Given the description of an element on the screen output the (x, y) to click on. 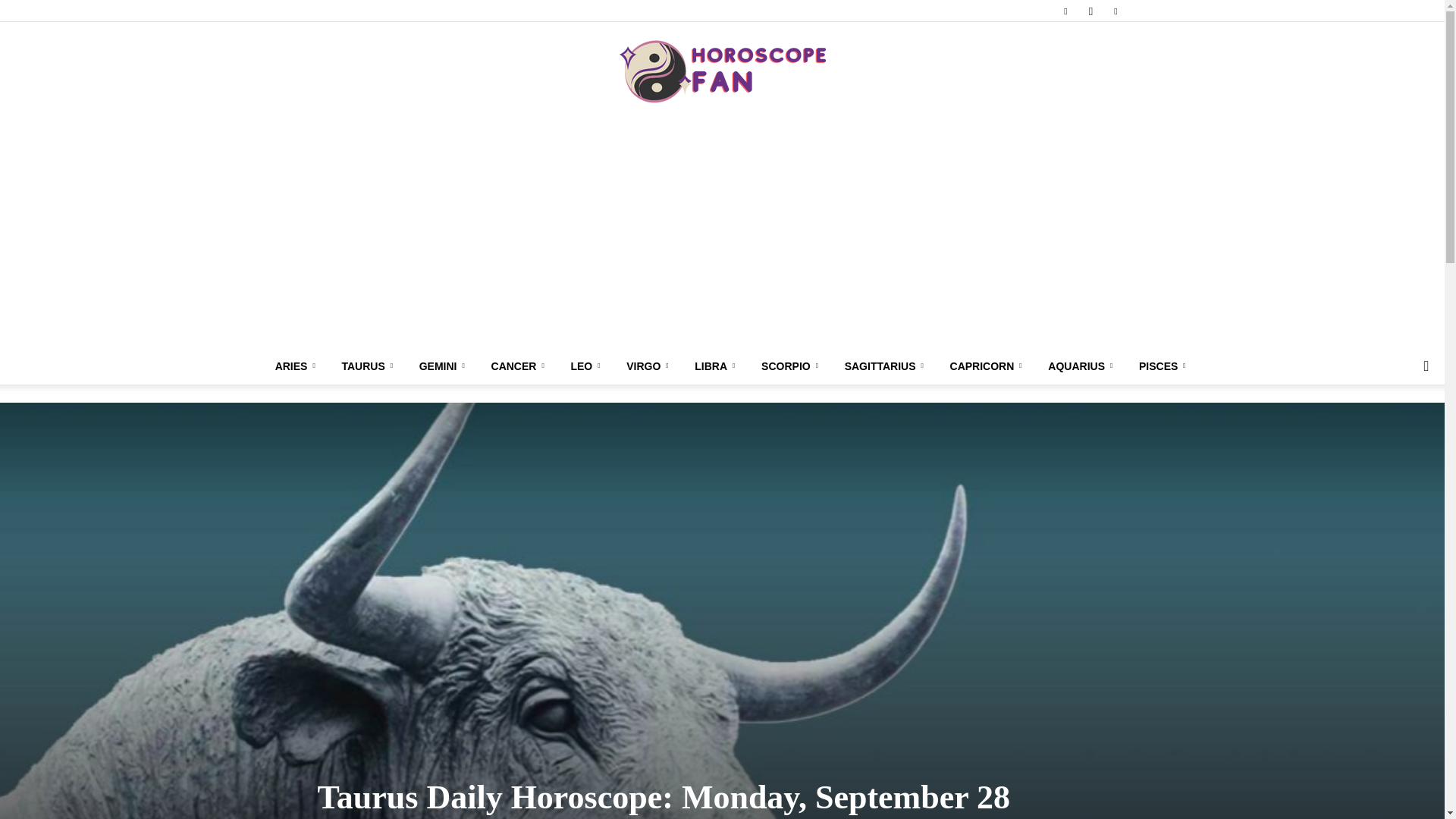
Facebook (1065, 10)
Pinterest (1114, 10)
Instagram (1090, 10)
